Given the description of an element on the screen output the (x, y) to click on. 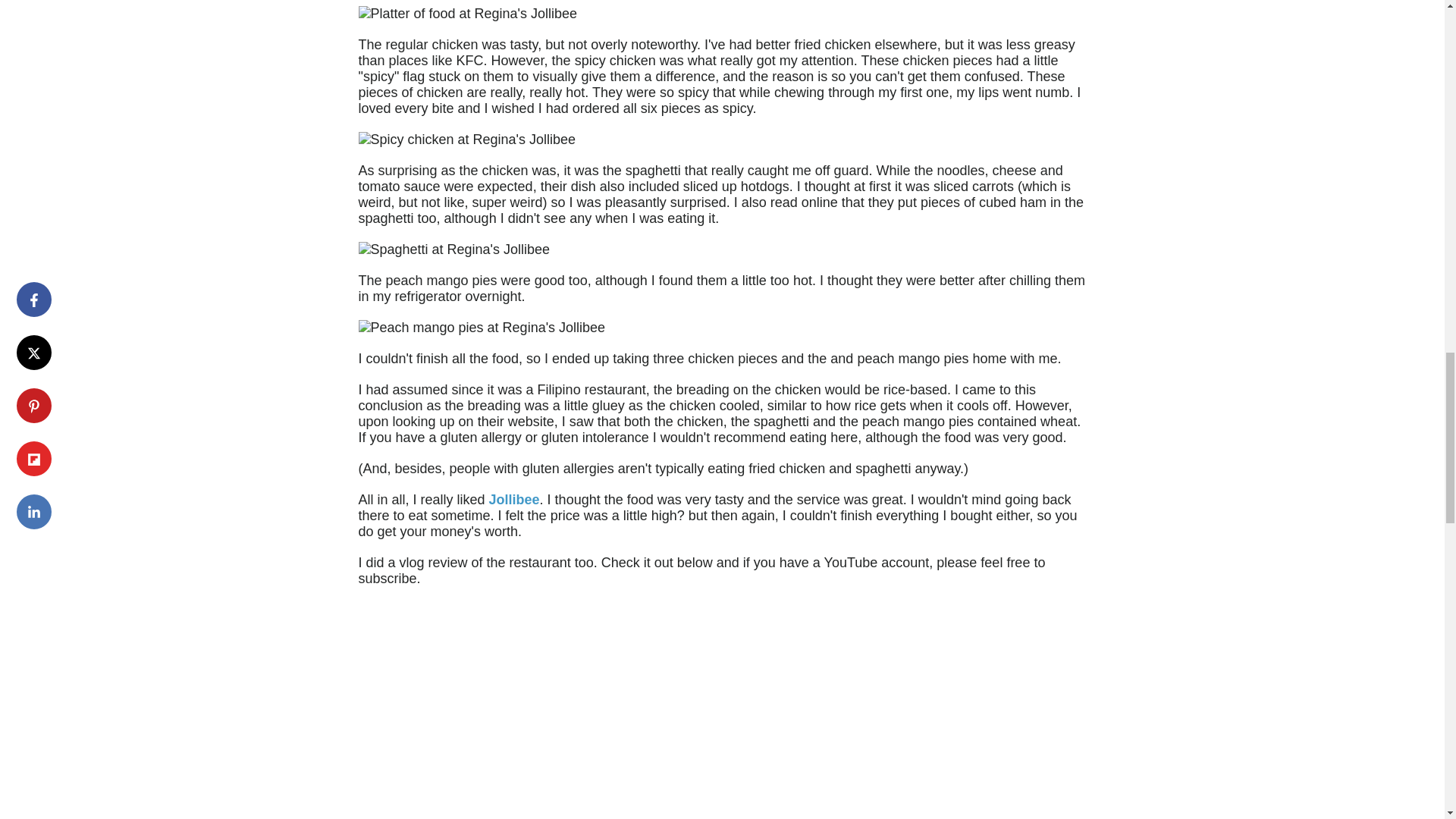
Jollibee (514, 499)
